Given the description of an element on the screen output the (x, y) to click on. 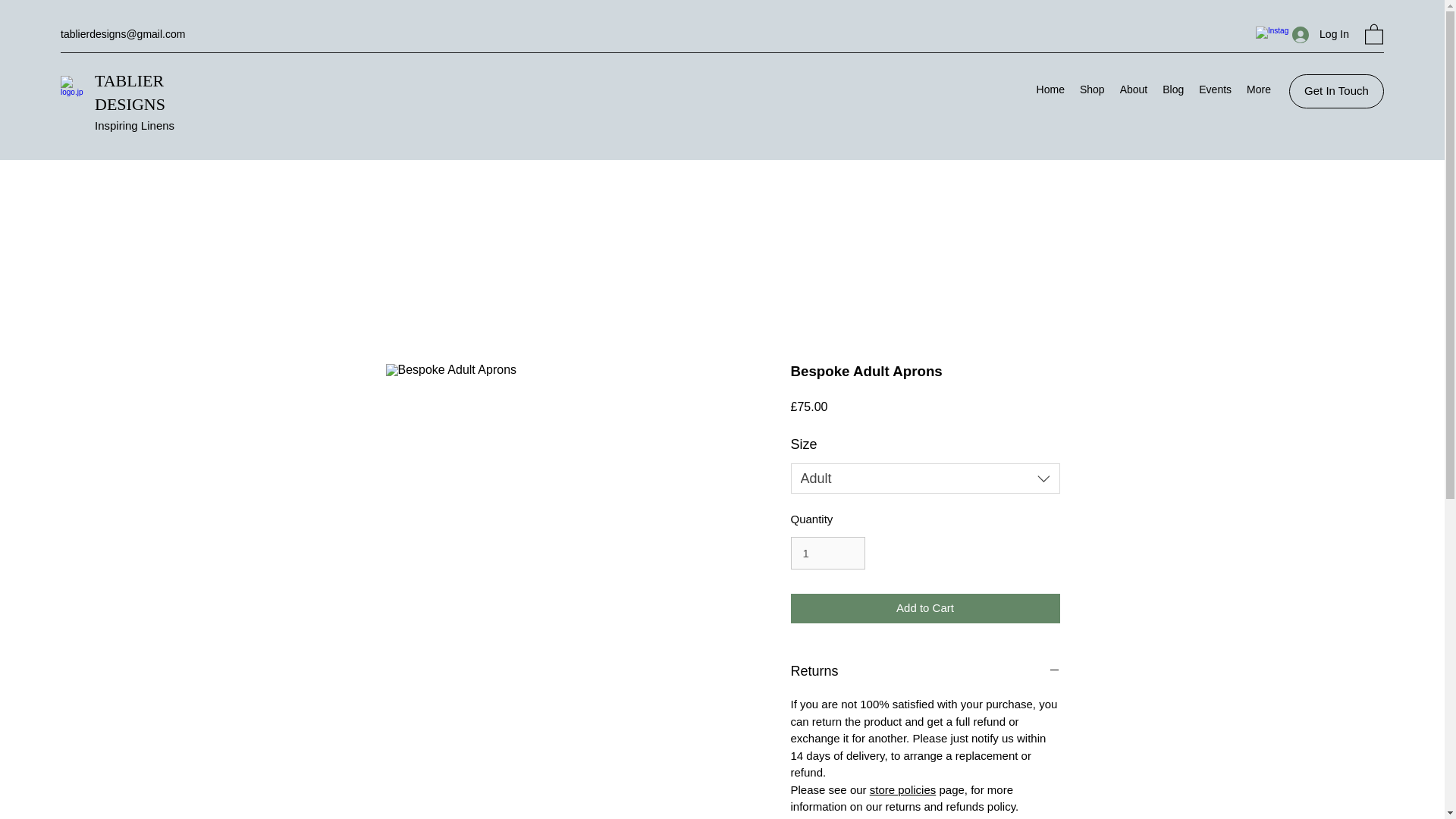
1 (827, 553)
Adult (924, 478)
Shop (1091, 91)
TABLIER DESIGNS (129, 92)
Add to Cart (924, 608)
store policies (902, 789)
Home (1050, 91)
Returns (924, 671)
Log In (1320, 34)
About (1134, 91)
